Given the description of an element on the screen output the (x, y) to click on. 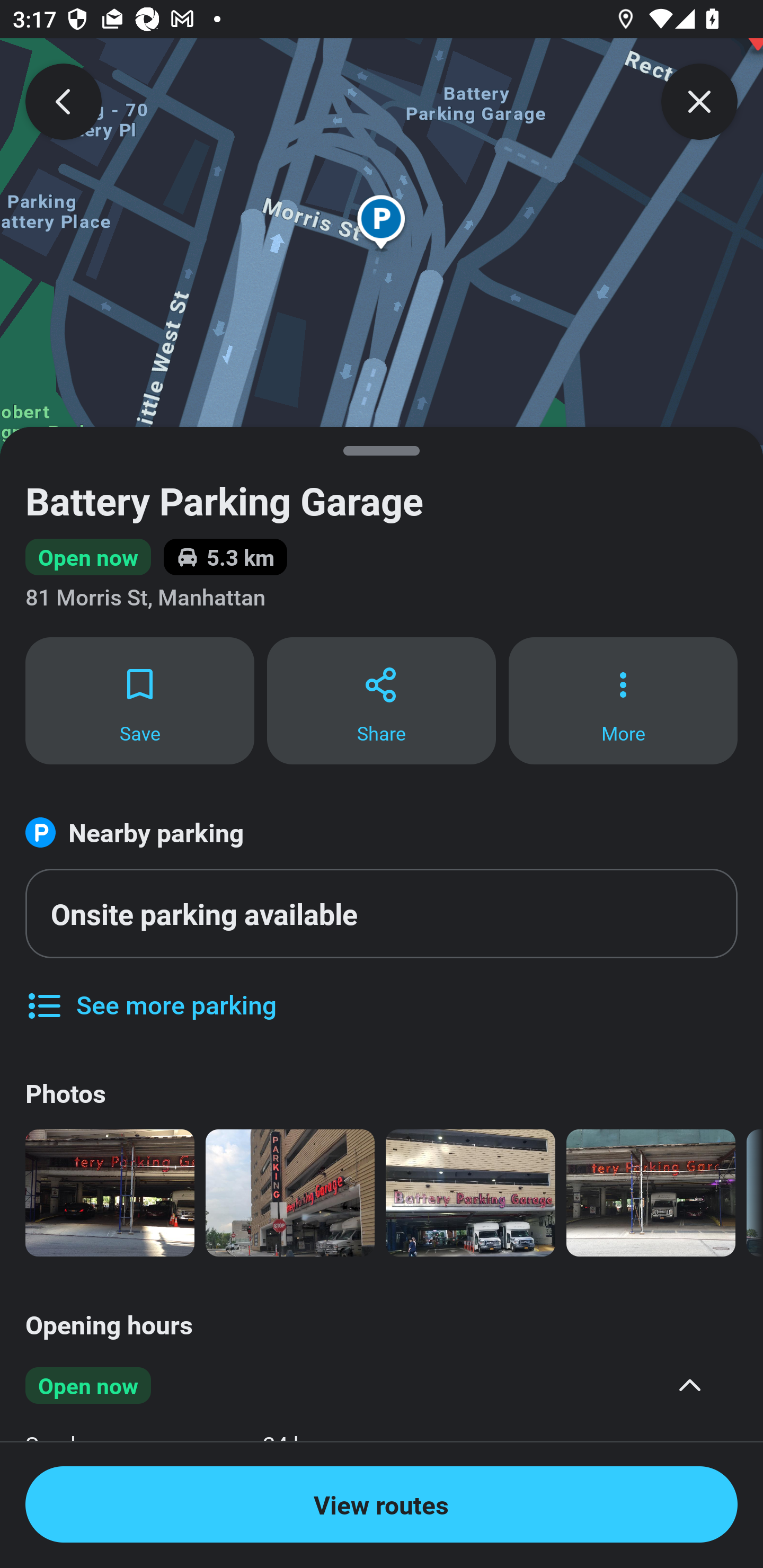
Save (139, 700)
Share (381, 700)
More (622, 700)
See more parking (150, 991)
Open now (368, 1384)
View routes (381, 1504)
